Given the description of an element on the screen output the (x, y) to click on. 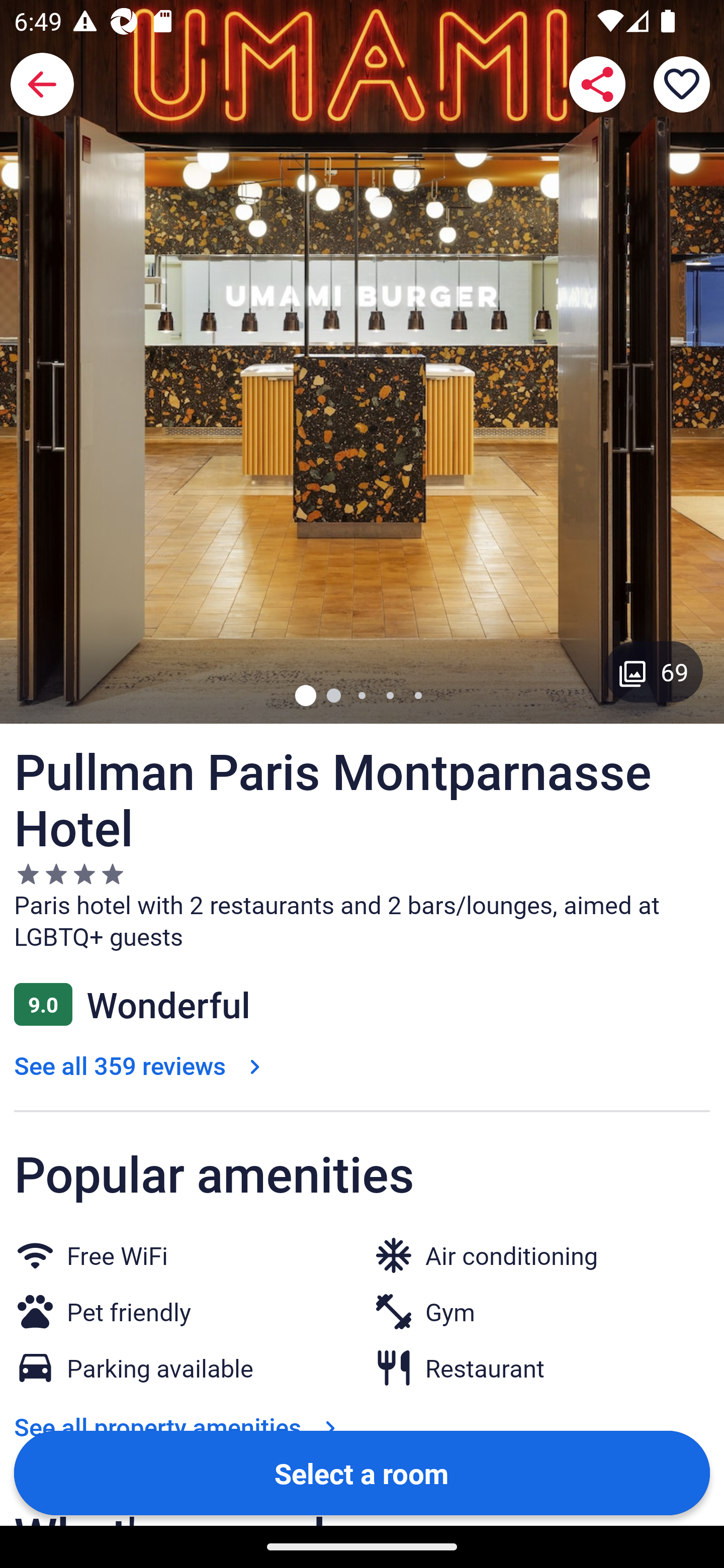
Back (42, 84)
Save property to a trip (681, 84)
Share Pullman Paris Montparnasse Hotel (597, 84)
Gallery button with 69 images (653, 671)
See all 359 reviews See all 359 reviews Link (140, 1065)
Select a room Button Select a room (361, 1472)
